Given the description of an element on the screen output the (x, y) to click on. 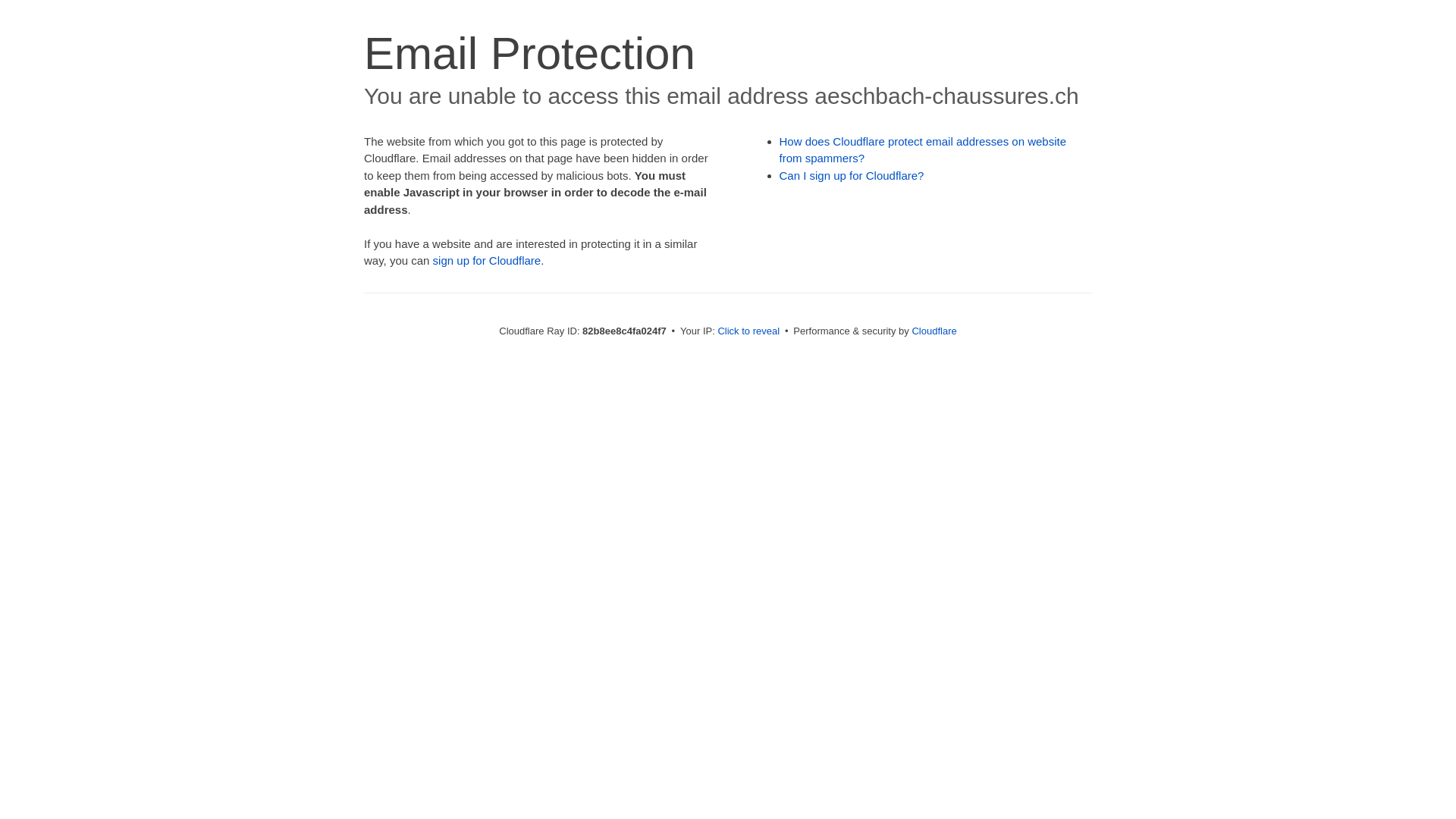
Click to reveal Element type: text (748, 330)
sign up for Cloudflare Element type: text (487, 260)
Can I sign up for Cloudflare? Element type: text (851, 175)
Cloudflare Element type: text (933, 330)
